Given the description of an element on the screen output the (x, y) to click on. 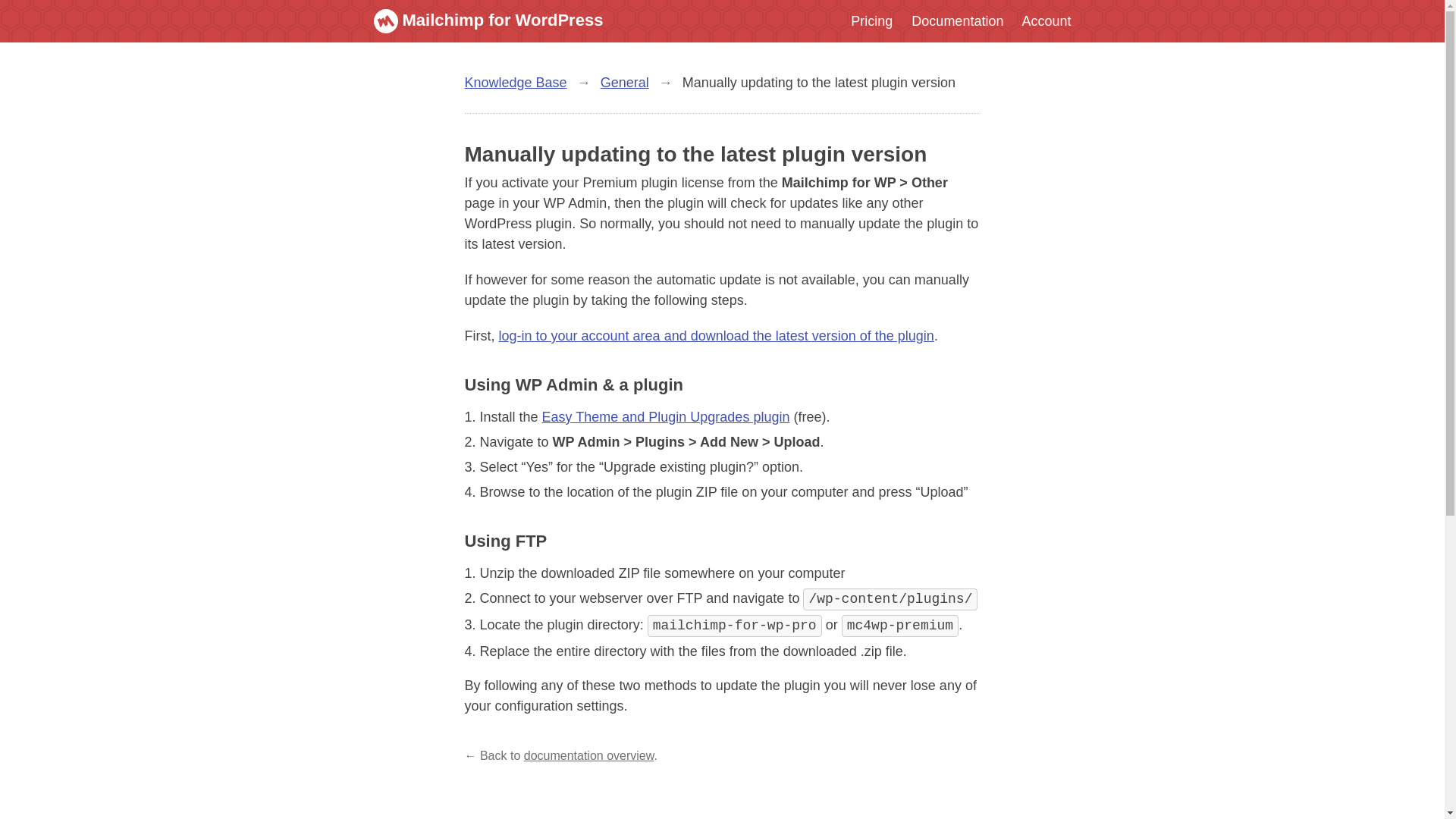
Documentation (957, 20)
Account (1046, 20)
General (624, 82)
Pricing (871, 20)
Easy Theme and Plugin Upgrades plugin (665, 417)
documentation overview (588, 755)
Knowledge Base (515, 82)
Mailchimp for WordPress (487, 19)
